Given the description of an element on the screen output the (x, y) to click on. 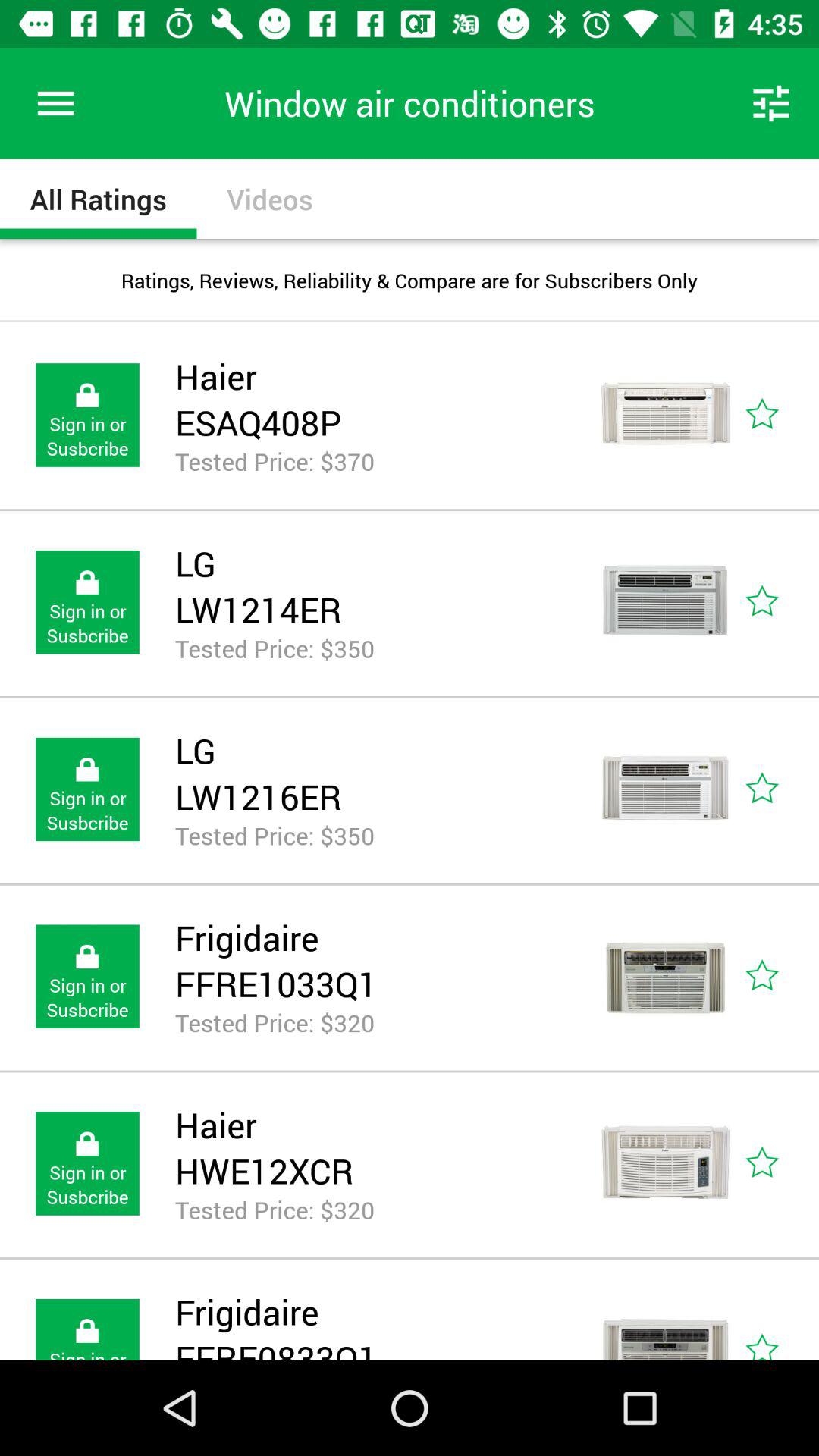
it represented the ratting of te products (779, 602)
